Given the description of an element on the screen output the (x, y) to click on. 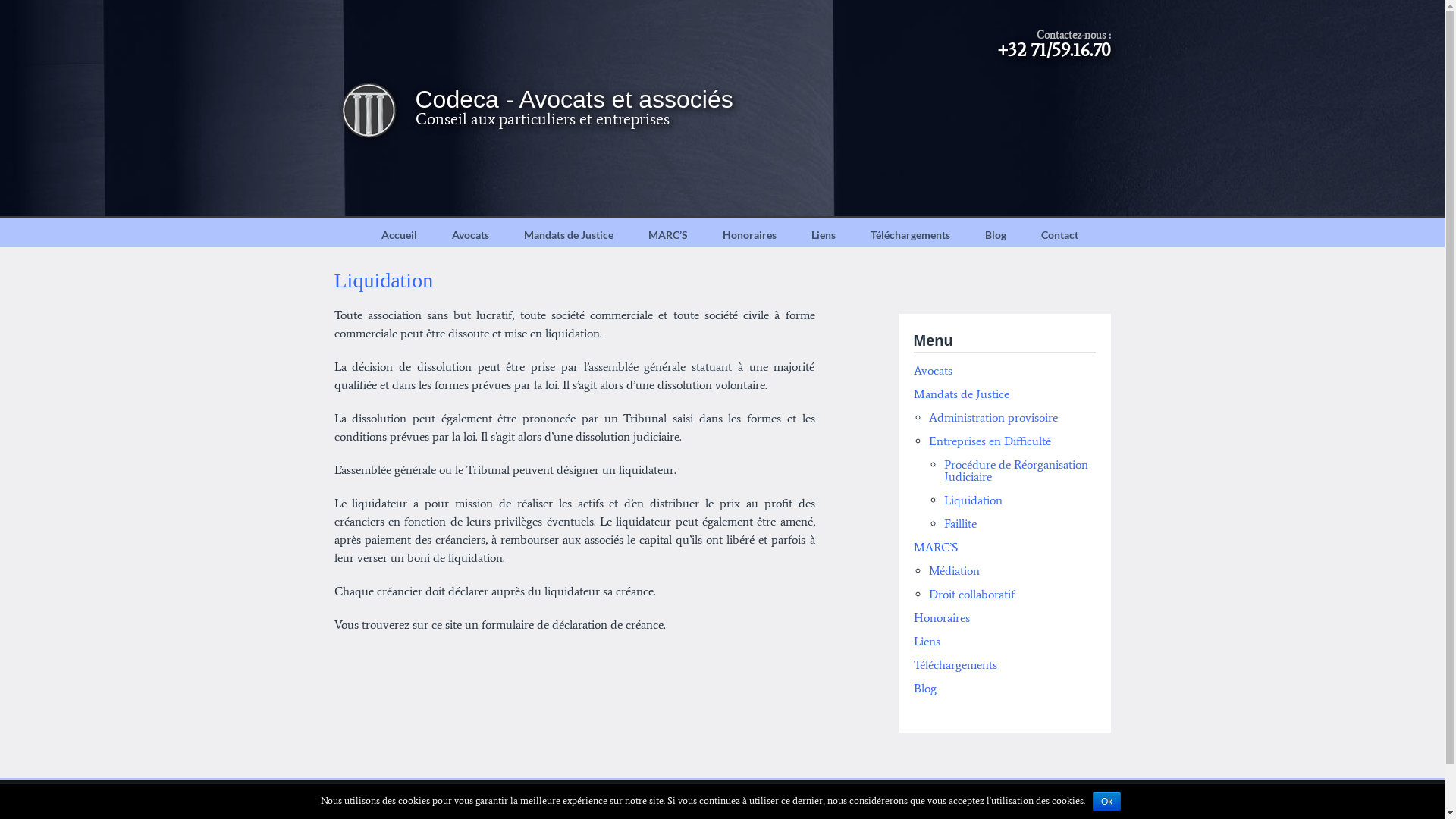
Avocats Element type: text (469, 234)
Administration provisoire Element type: text (992, 417)
Liens Element type: text (822, 234)
+32 71/59.16.70 Element type: text (1053, 49)
Faillite Element type: text (959, 523)
Mandats de Justice Element type: text (960, 393)
Blog Element type: text (995, 234)
Honoraires Element type: text (749, 234)
Contact Element type: text (1059, 234)
Droit collaboratif Element type: text (970, 593)
Liens Element type: text (926, 640)
Liquidation Element type: text (972, 499)
Honoraires Element type: text (941, 617)
Accueil Element type: text (399, 234)
Mandats de Justice Element type: text (568, 234)
Blog Element type: text (924, 687)
Ok Element type: text (1106, 801)
Avocats Element type: text (932, 370)
